Given the description of an element on the screen output the (x, y) to click on. 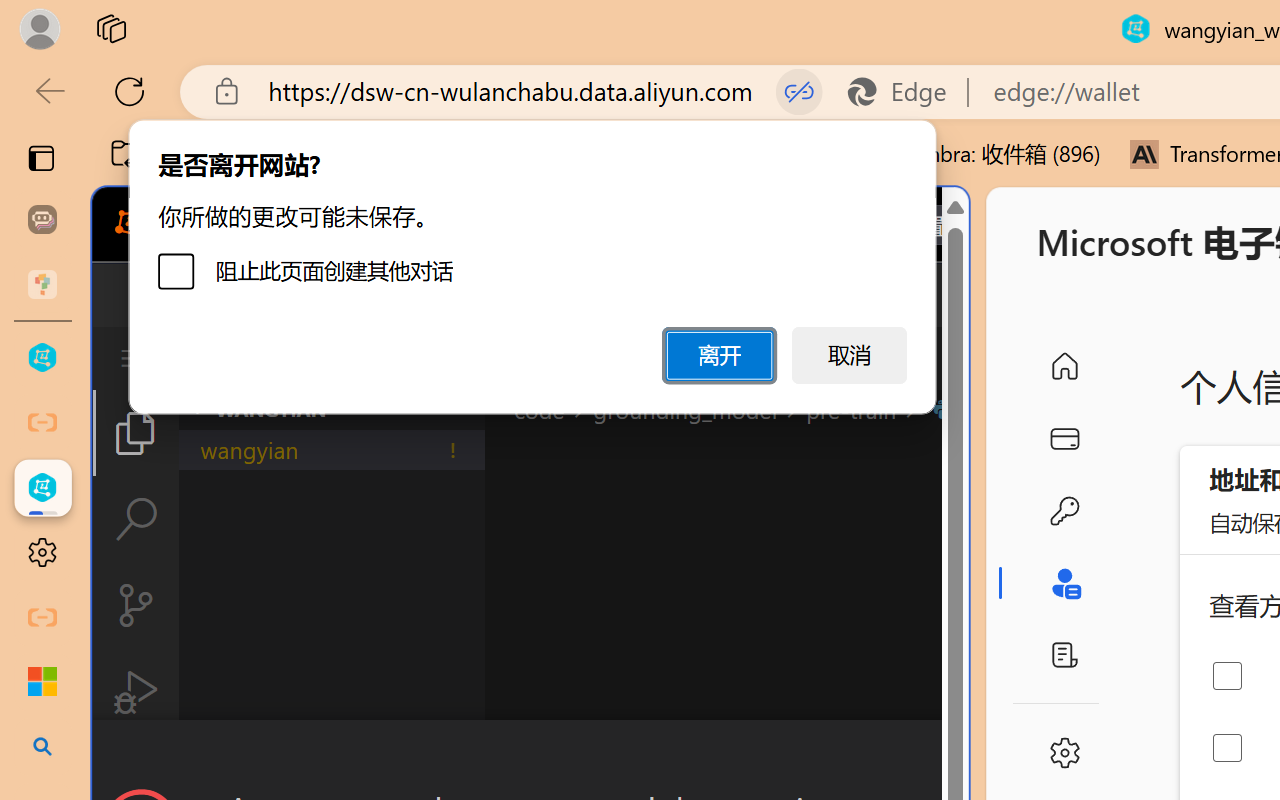
Close Dialog (959, 756)
Class: actions-container (529, 756)
Run and Debug (Ctrl+Shift+D) (135, 692)
Microsoft security help and learning (42, 681)
